Given the description of an element on the screen output the (x, y) to click on. 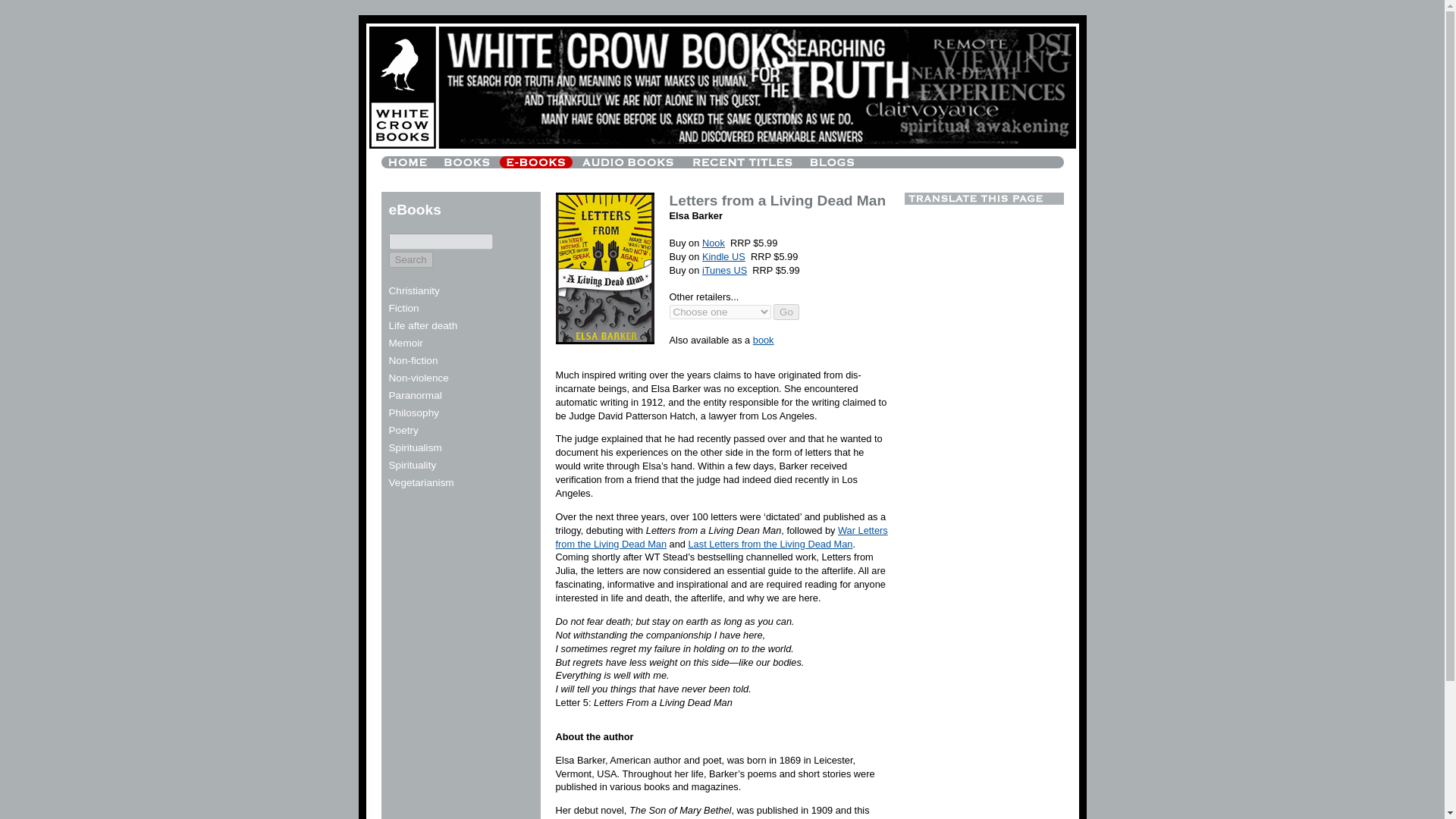
Nook (713, 242)
book (763, 339)
Non-violence (418, 378)
Paranormal (414, 395)
War Letters from the Living Dead Man (720, 536)
War Letters from the Living Dead Man (720, 536)
Philosophy (413, 412)
eBooks (414, 210)
Last Letters from the Living Dead Man (770, 543)
iTunes US (723, 270)
